Given the description of an element on the screen output the (x, y) to click on. 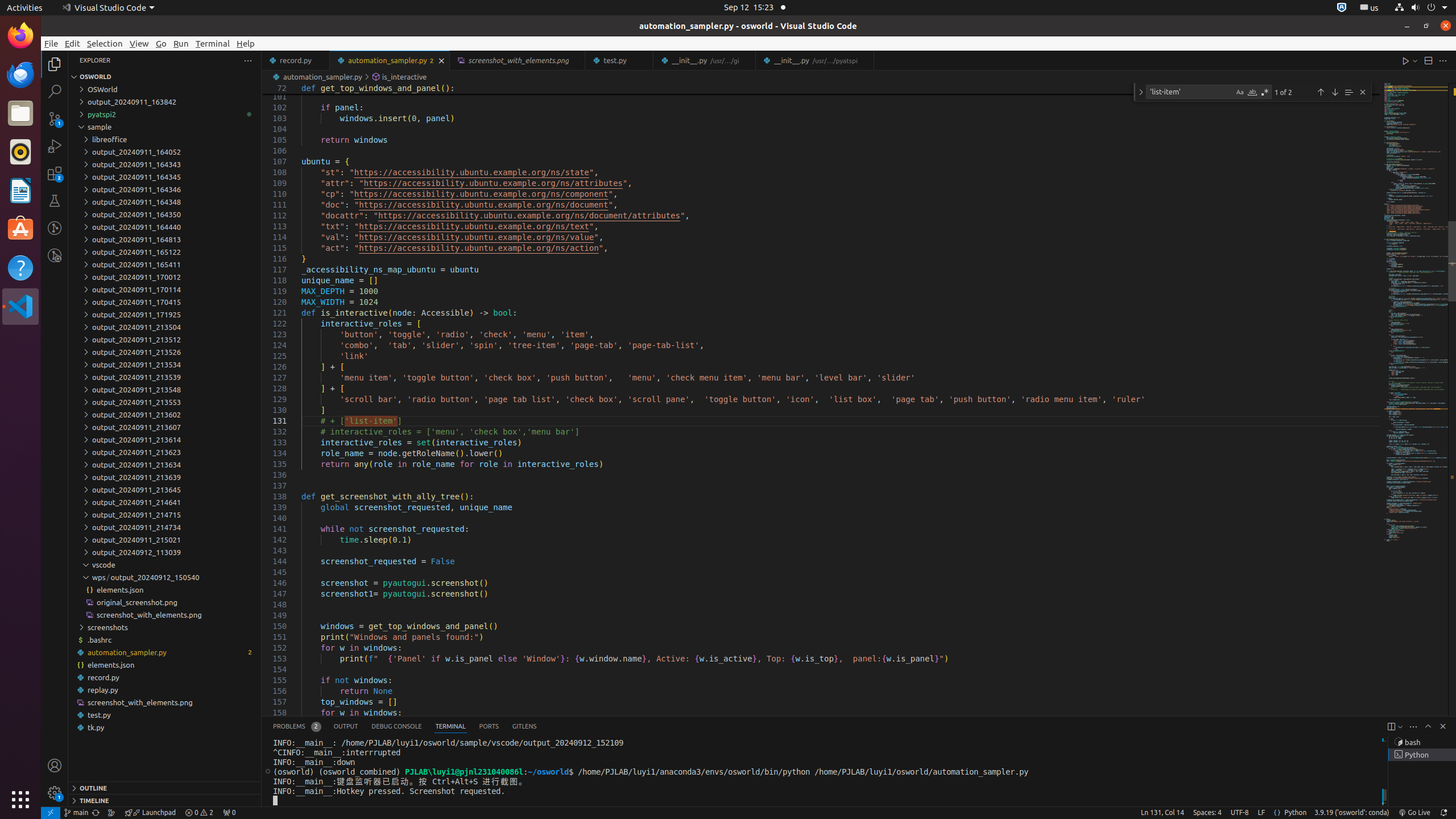
output_20240911_164440 Element type: tree-item (164, 226)
Outline Section Element type: push-button (164, 787)
output_20240911_214641 Element type: tree-item (164, 501)
output_20240911_213548 Element type: tree-item (164, 389)
Terminal (Ctrl+`) Element type: page-tab (450, 726)
